Given the description of an element on the screen output the (x, y) to click on. 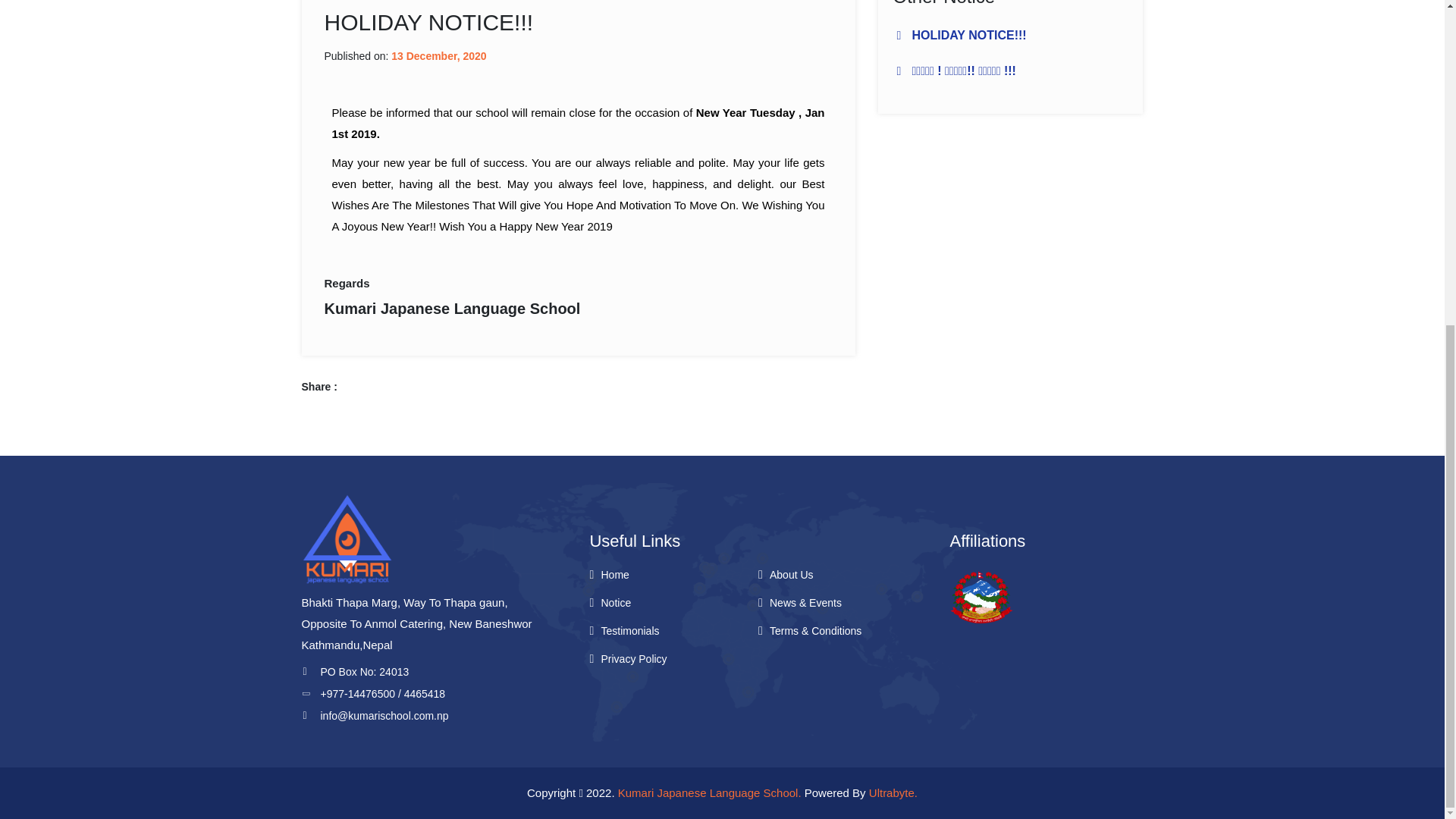
Notice (614, 603)
HOLIDAY NOTICE!!! (968, 34)
Ultrabyte. (893, 792)
Privacy Policy (632, 658)
About Us (791, 574)
Home (613, 574)
Testimonials (629, 630)
Kumari Japanese Language School. (709, 792)
